Given the description of an element on the screen output the (x, y) to click on. 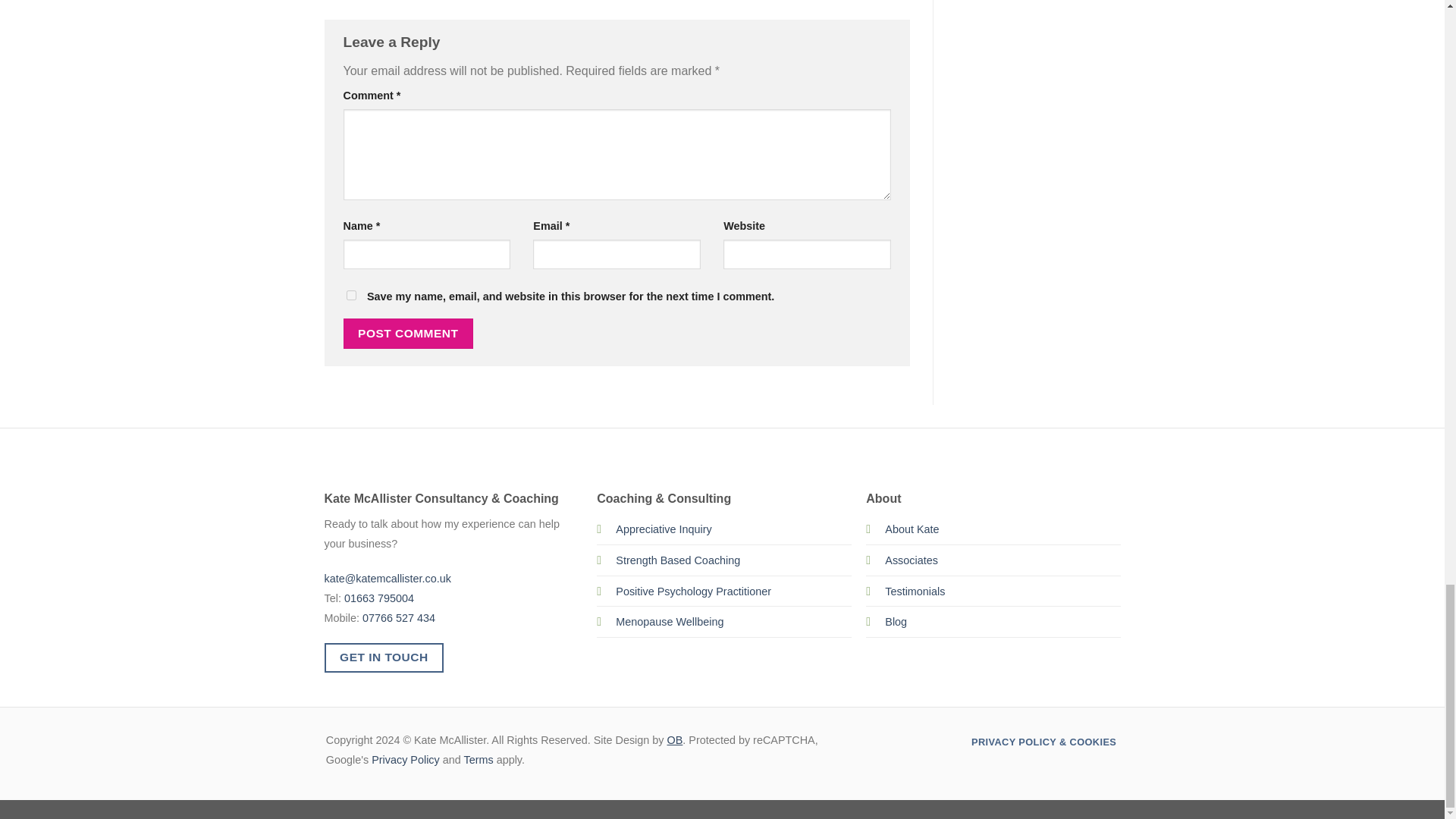
yes (350, 295)
GET IN TOUCH (384, 657)
Post Comment (407, 333)
07766 527 434 (398, 617)
Appreciative Inquiry (663, 529)
01663 795004 (378, 598)
Post Comment (407, 333)
